Given the description of an element on the screen output the (x, y) to click on. 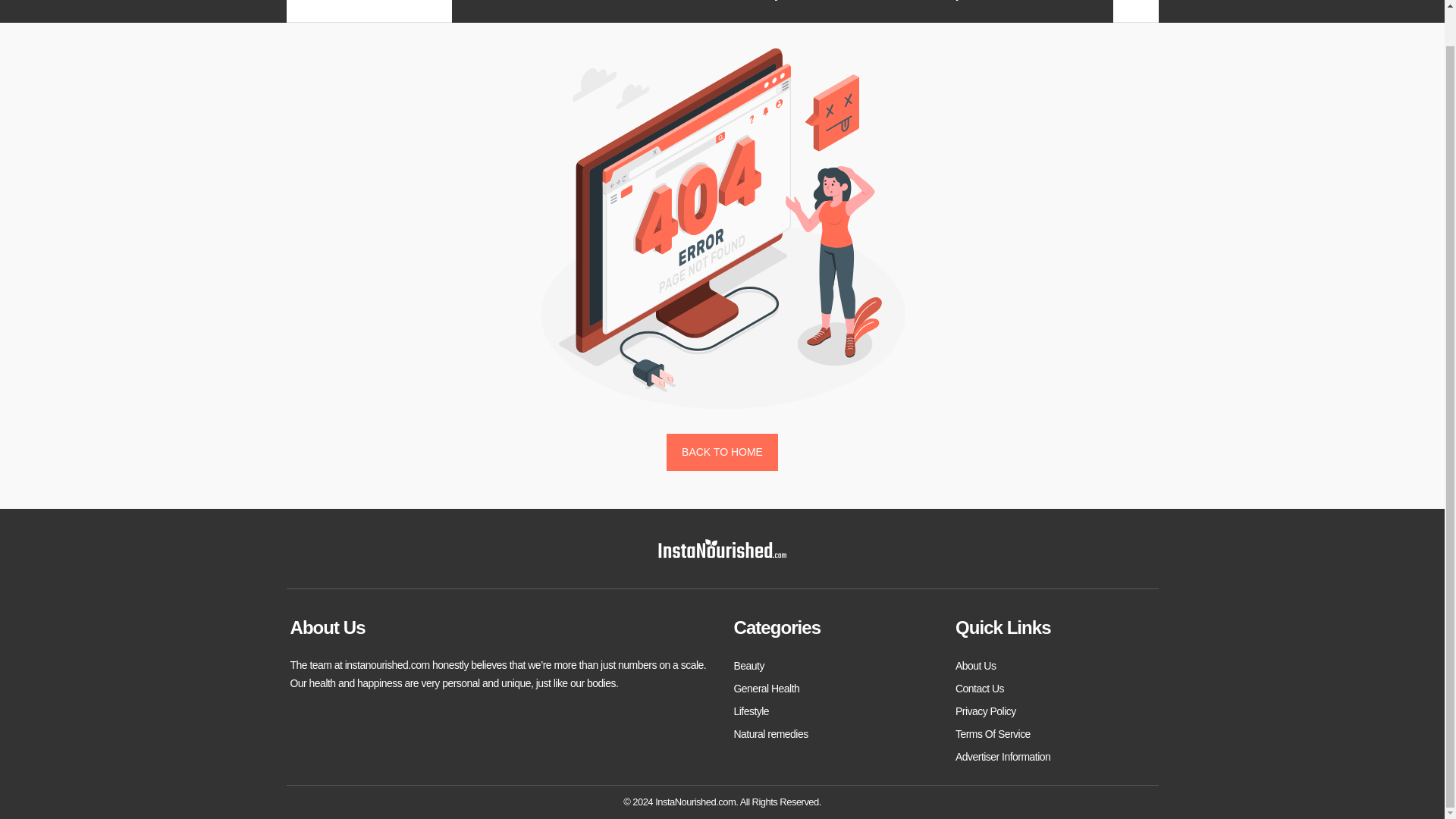
Advertiser Information (1002, 756)
Beauty (748, 665)
Natural remedies (770, 733)
Lifestyle (751, 710)
About Us (975, 665)
Privacy Policy (985, 710)
General Health (766, 688)
Terms Of Service (992, 733)
